Given the description of an element on the screen output the (x, y) to click on. 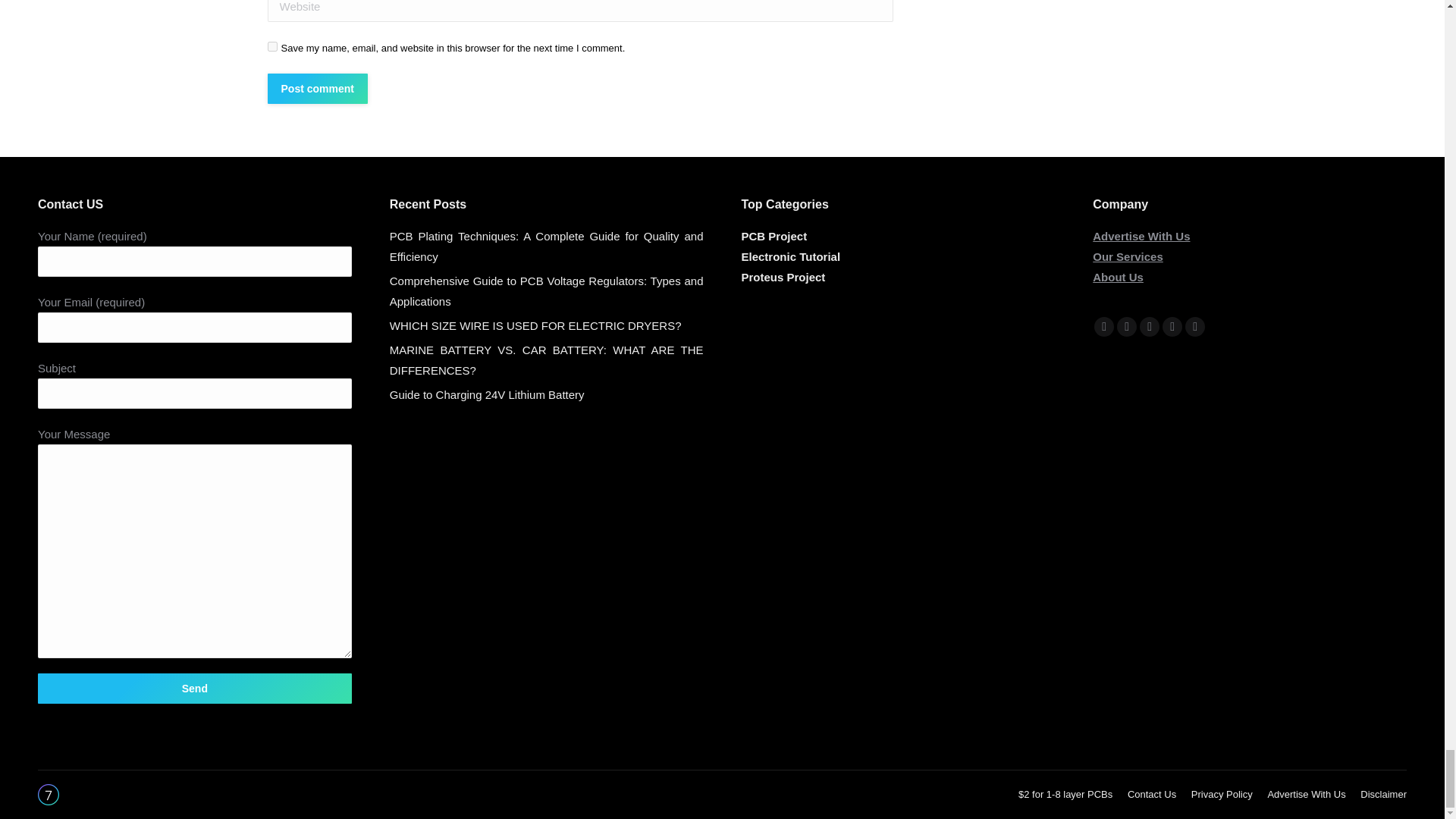
yes (271, 46)
Send (194, 688)
